Given the description of an element on the screen output the (x, y) to click on. 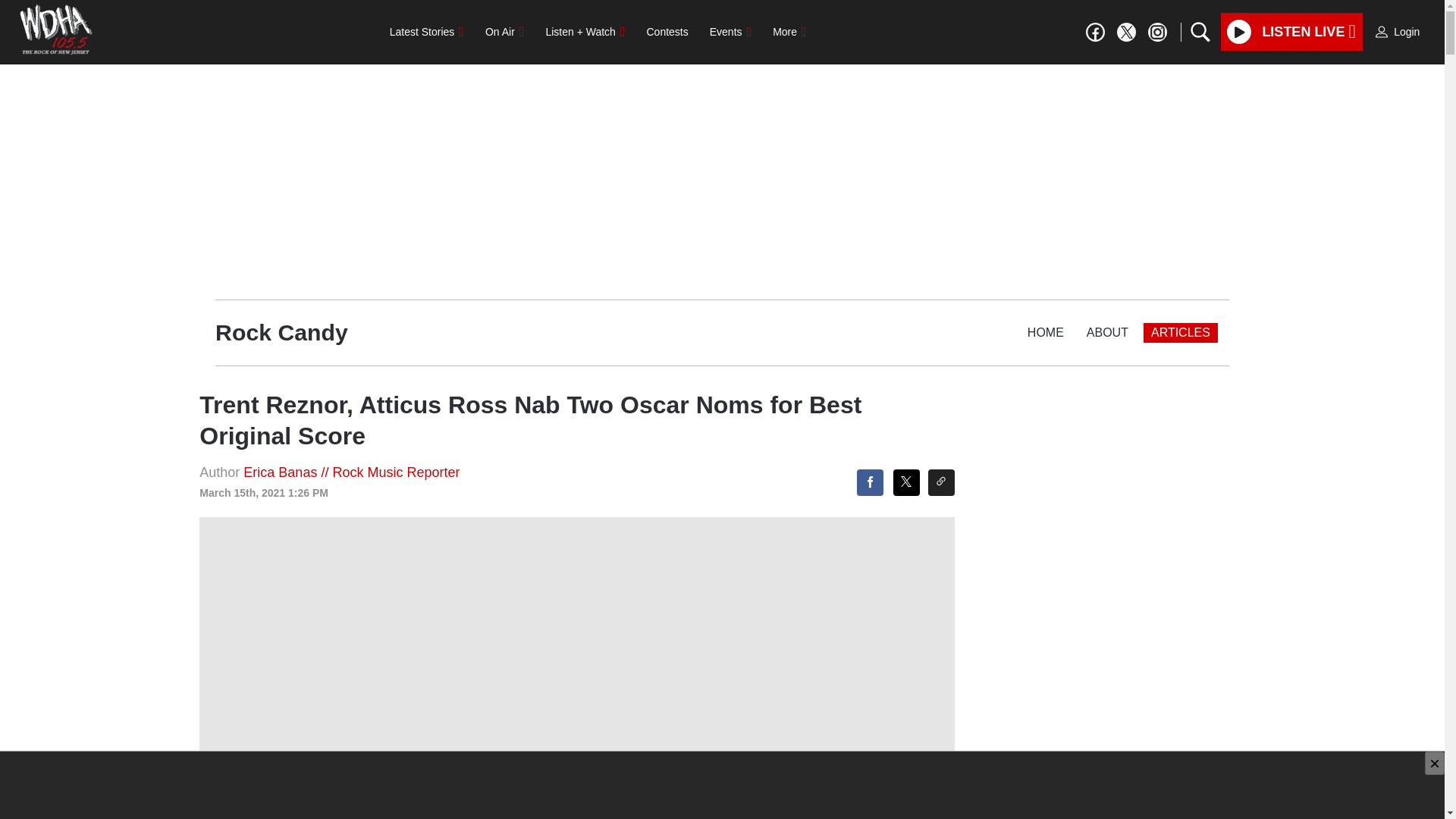
Events (729, 31)
On Air (504, 31)
Contests (666, 31)
Latest Stories (426, 31)
